Given the description of an element on the screen output the (x, y) to click on. 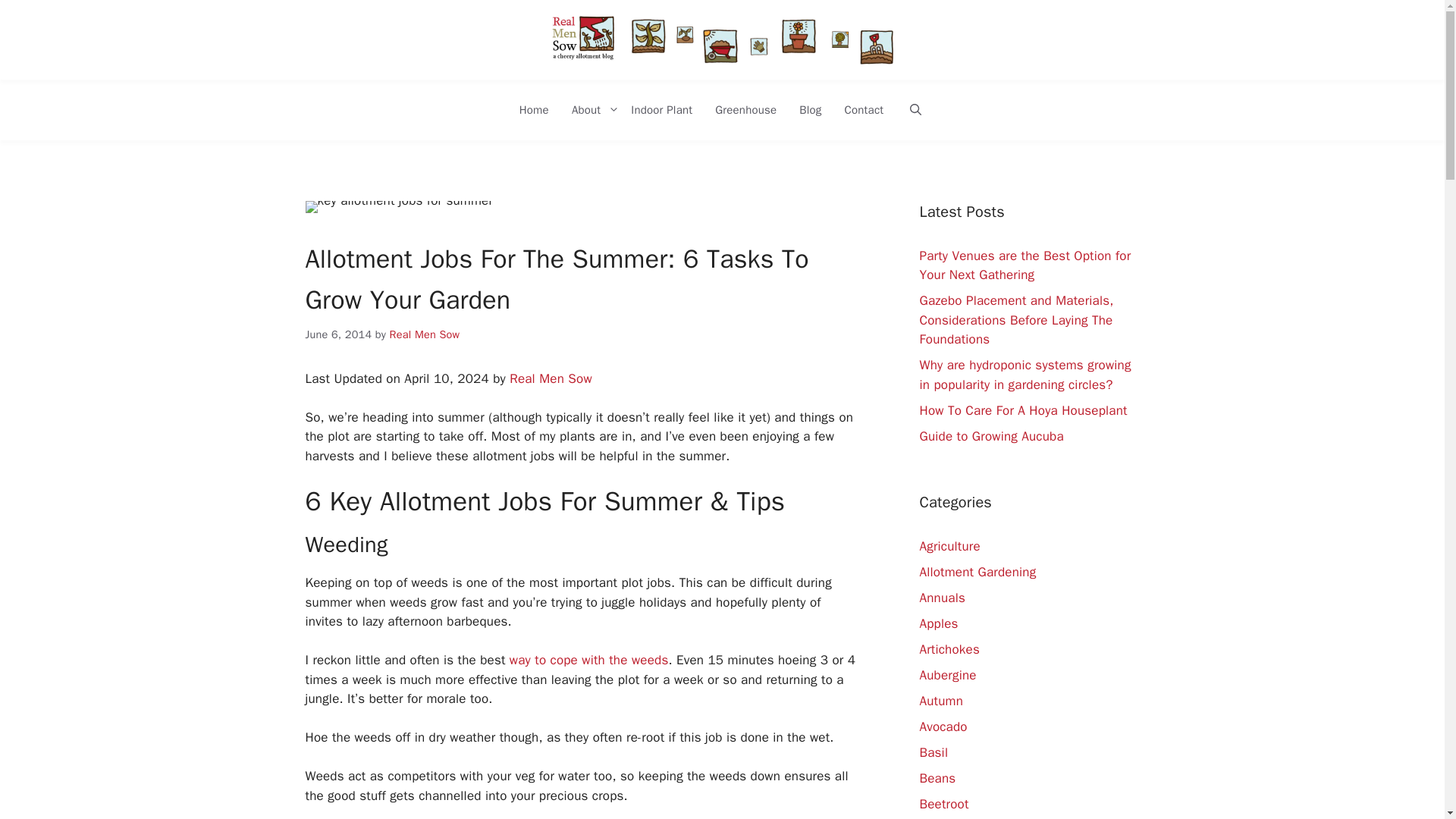
Real Men Sow (550, 377)
Contact (863, 109)
Allotment Gardening (976, 571)
way to cope with the weeds (586, 659)
Greenhouse (745, 109)
Party Venues are the Best Option for Your Next Gathering (1024, 265)
Agriculture (948, 546)
How To Care For A Hoya Houseplant (1022, 410)
About (590, 109)
Real Men Sow (425, 334)
Indoor Plant (661, 109)
Guide to Growing Aucuba (990, 436)
View all posts by Real Men Sow (425, 334)
